Given the description of an element on the screen output the (x, y) to click on. 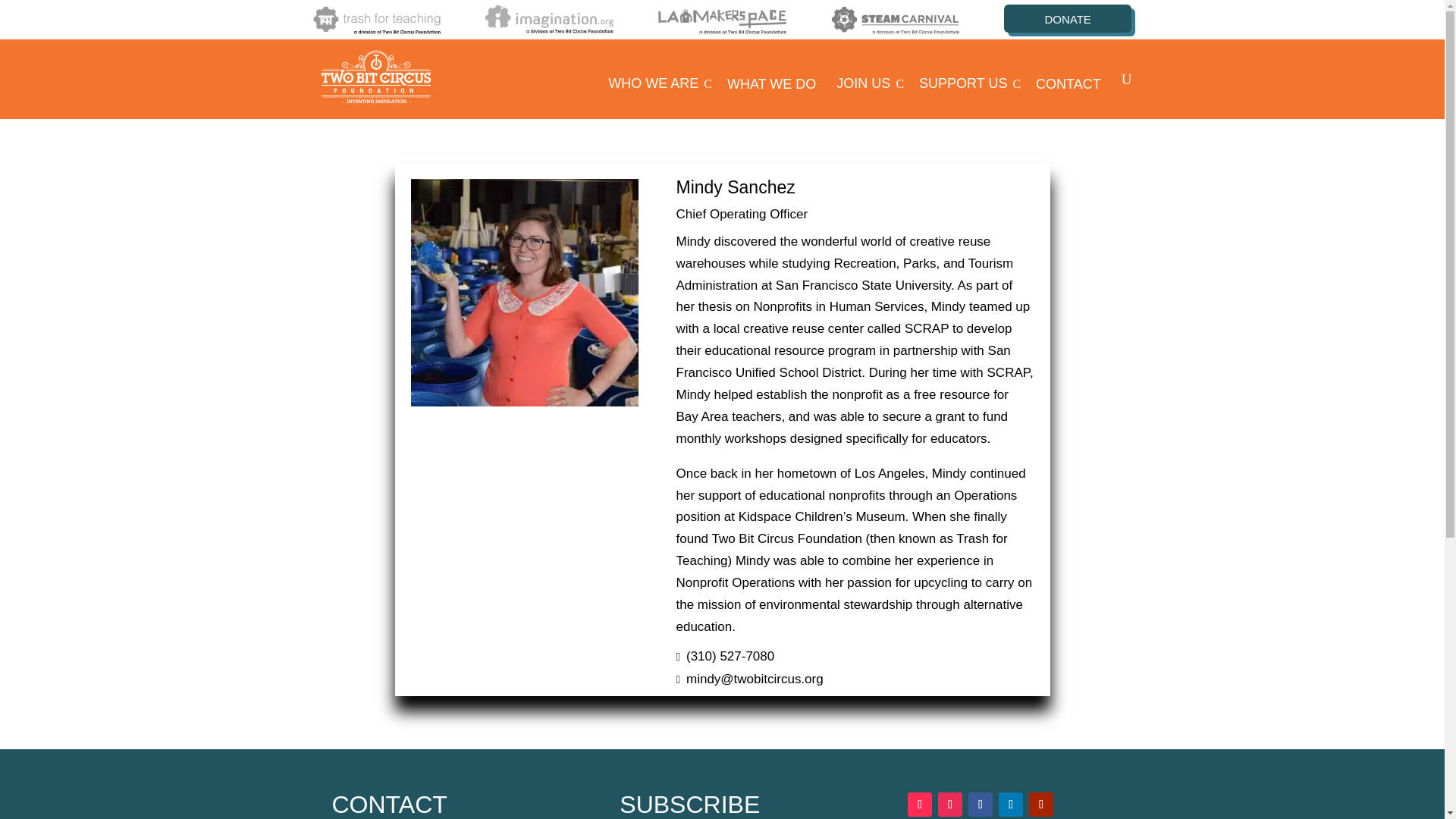
Follow on LinkedIn (1010, 804)
LAM2022Final (722, 20)
Follow on TikTok (659, 83)
Follow on Instagram (919, 804)
WHAT WE DO (869, 83)
Follow on Facebook (949, 804)
DONATE (969, 83)
Follow on Youtube (773, 84)
CONTACT (980, 804)
Mindy Sanchez (1067, 18)
